Given the description of an element on the screen output the (x, y) to click on. 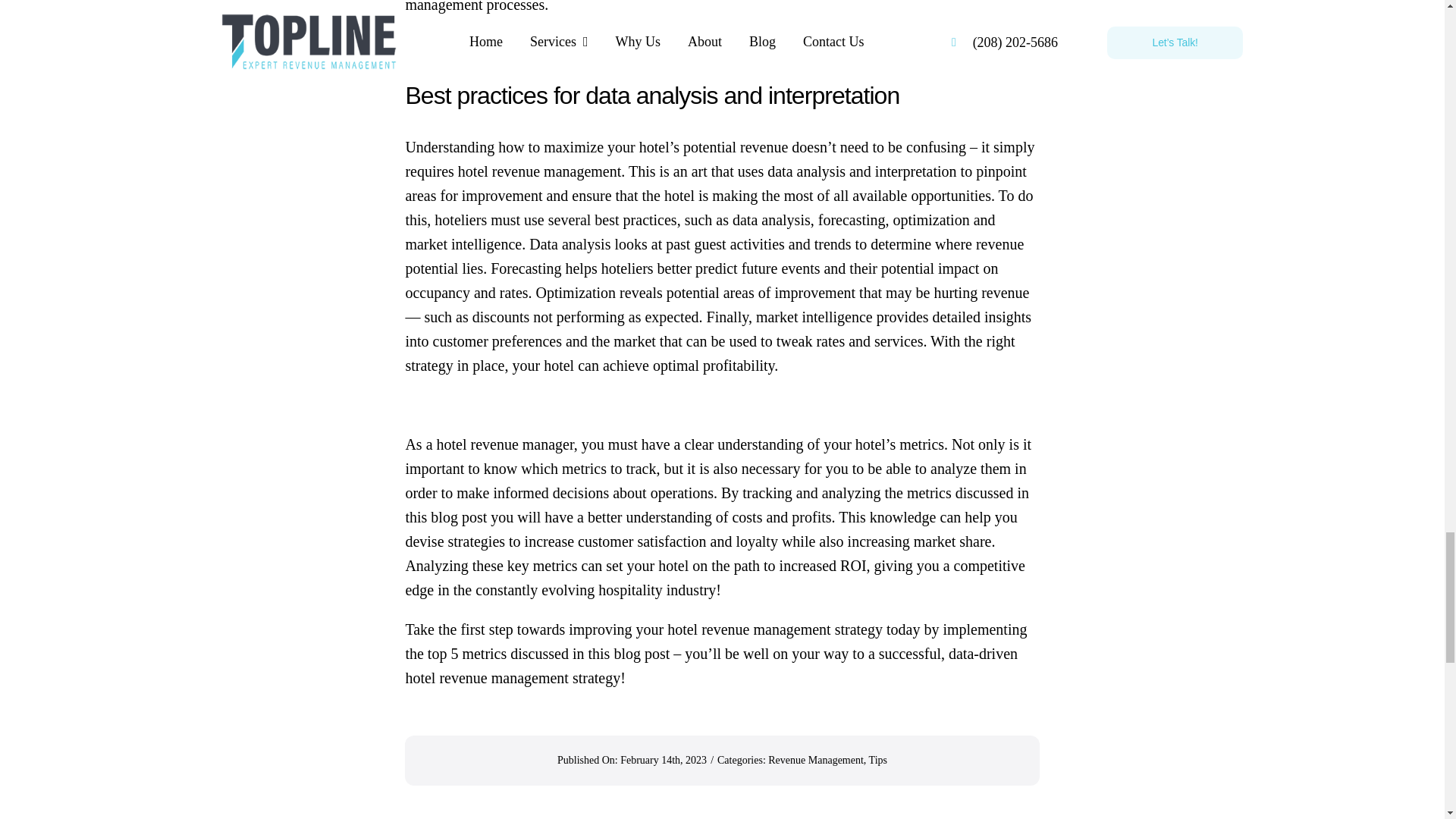
Tips (877, 759)
Revenue Management (815, 759)
